Given the description of an element on the screen output the (x, y) to click on. 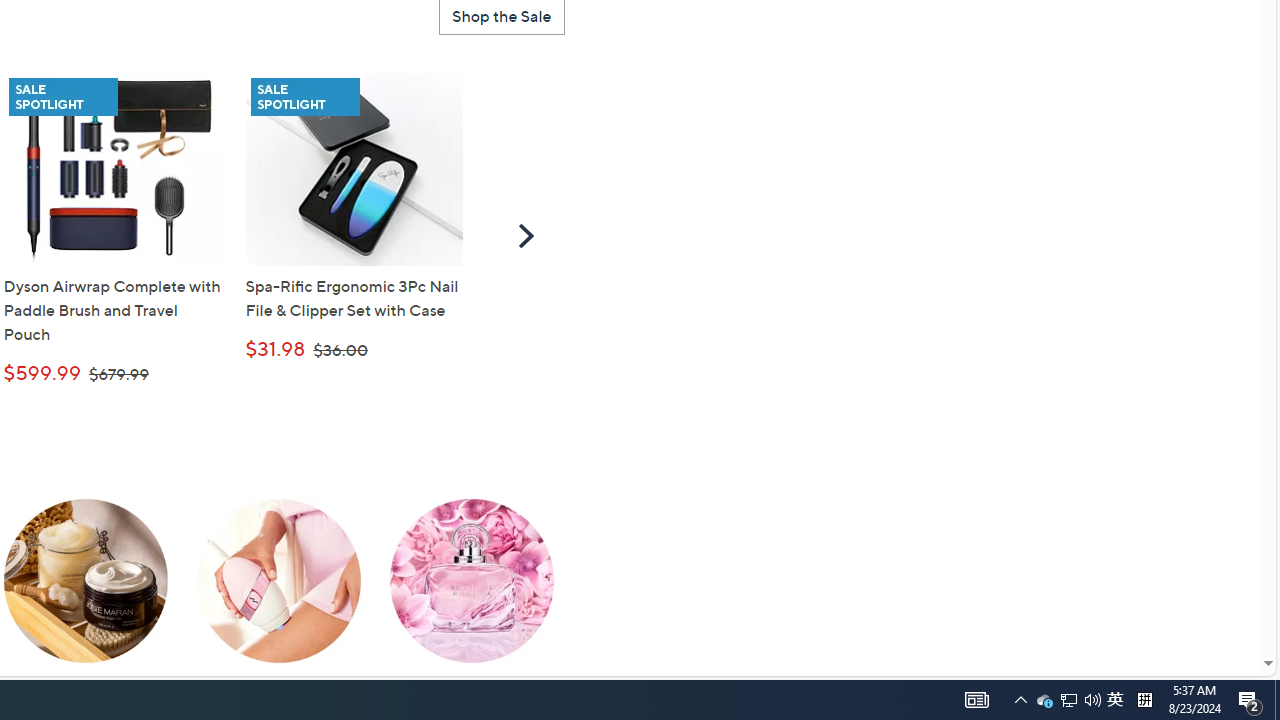
Bath & Body (86, 596)
Fragrance (471, 596)
Beauty Tools (278, 596)
Scroll Right (525, 235)
